Given the description of an element on the screen output the (x, y) to click on. 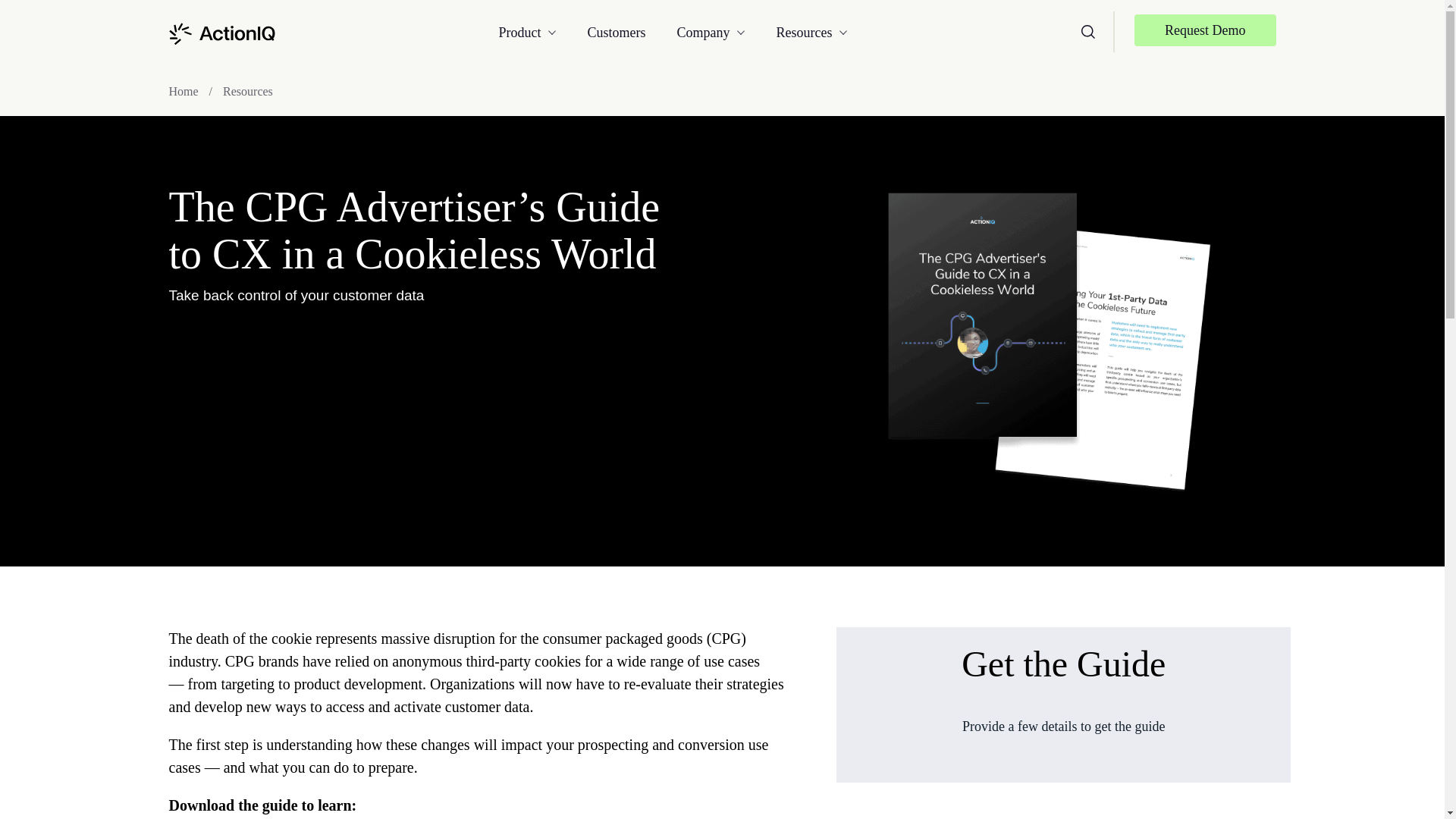
ActionIQ Homepage Link (221, 32)
Customers (623, 32)
Search (1087, 30)
Resources (797, 32)
Search Icon (1087, 31)
Product (542, 32)
ActionIQ Logo (221, 33)
Request Demo (1204, 29)
Company (710, 32)
